Given the description of an element on the screen output the (x, y) to click on. 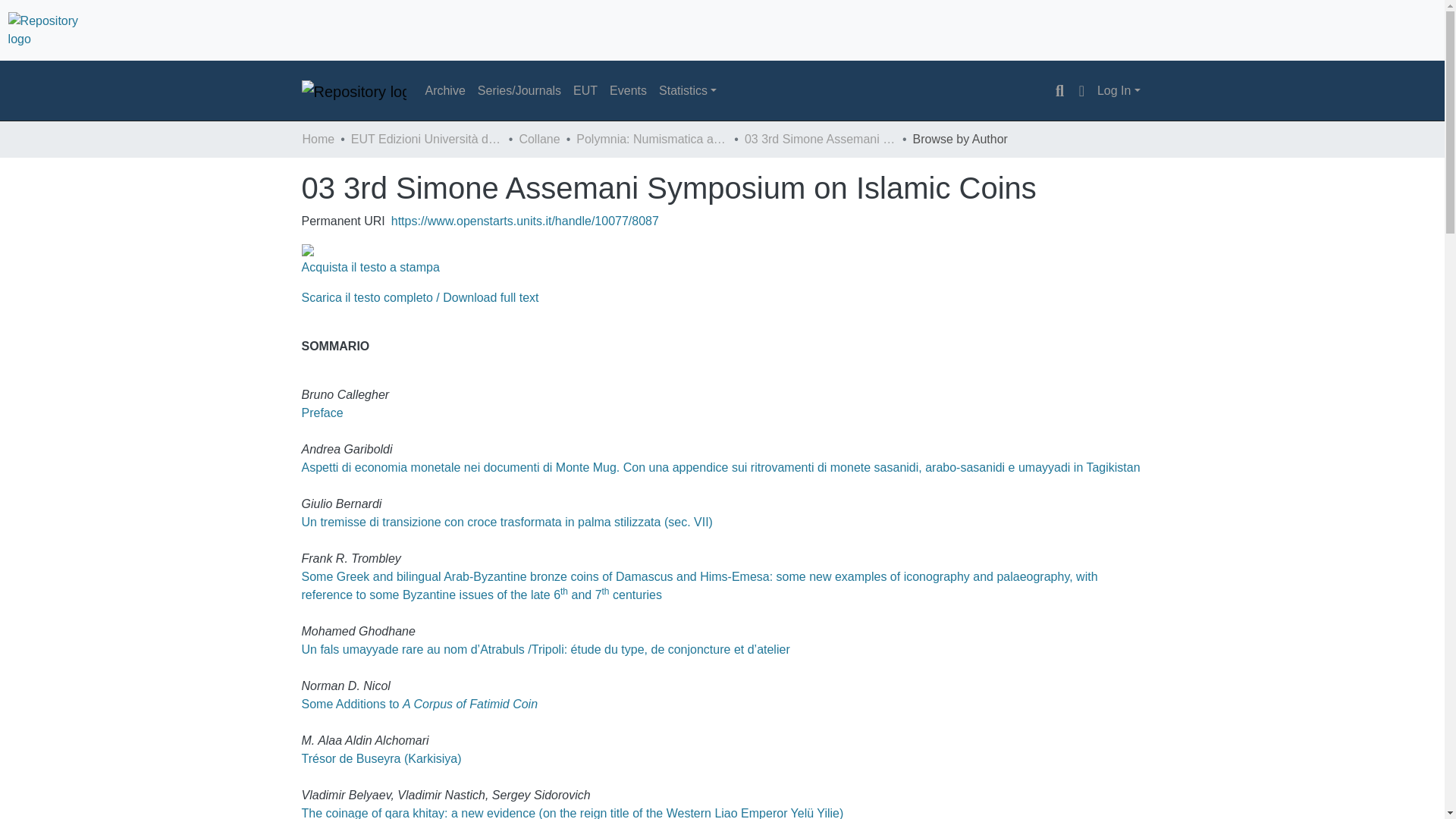
Archive (444, 91)
Home (317, 139)
Search (1058, 90)
03 3rd Simone Assemani Symposium on Islamic Coins (820, 139)
Events (628, 91)
Preface (322, 412)
Statistics (687, 91)
Polymnia: Numismatica antica e medievale. Studi (652, 139)
Some Additions to A Corpus of Fatimid Coin (419, 703)
Acquista il testo a stampa (370, 267)
Collane (538, 139)
Events (628, 91)
EUT (585, 91)
